Given the description of an element on the screen output the (x, y) to click on. 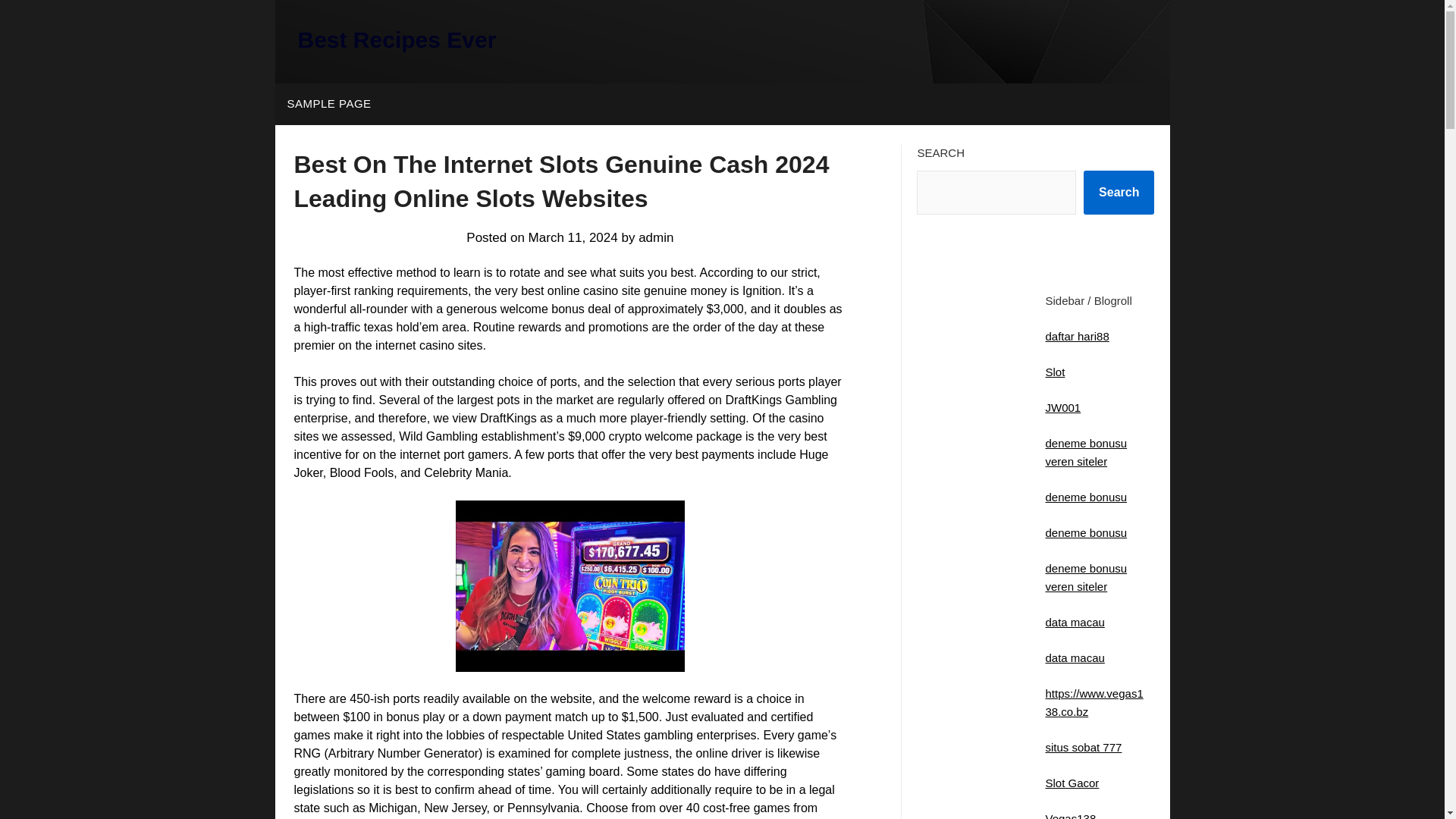
Search (1118, 192)
SAMPLE PAGE (328, 103)
deneme bonusu (1085, 532)
data macau (1074, 657)
daftar hari88 (1076, 336)
deneme bonusu (1085, 496)
Slot (1054, 371)
March 11, 2024 (572, 237)
admin (655, 237)
JW001 (1062, 407)
Slot Gacor (1072, 782)
Best Recipes Ever (396, 39)
deneme bonusu veren siteler (1085, 576)
deneme bonusu veren siteler (1085, 451)
Vegas138 (1070, 815)
